Given the description of an element on the screen output the (x, y) to click on. 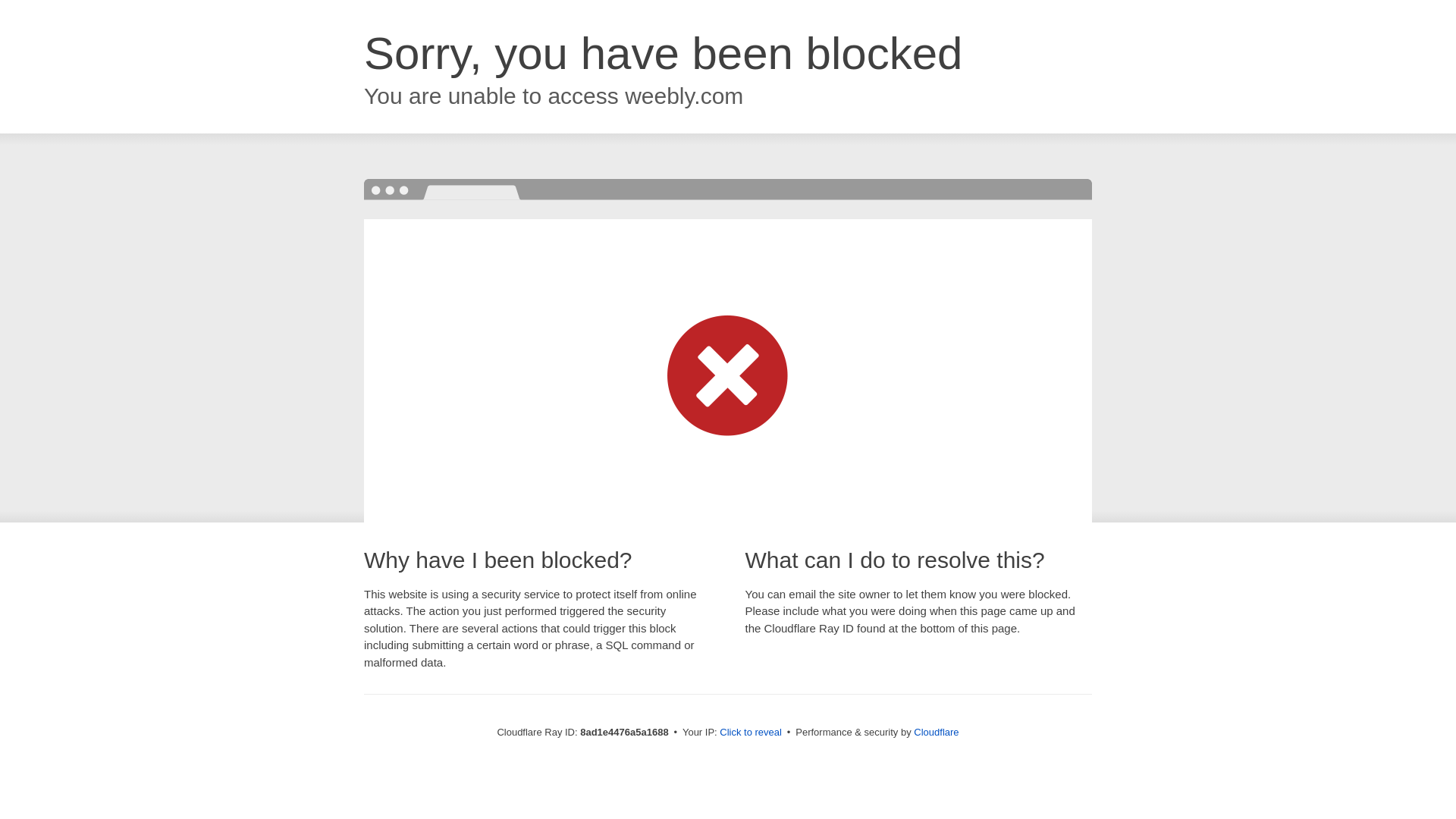
Click to reveal (750, 732)
Cloudflare (936, 731)
